Given the description of an element on the screen output the (x, y) to click on. 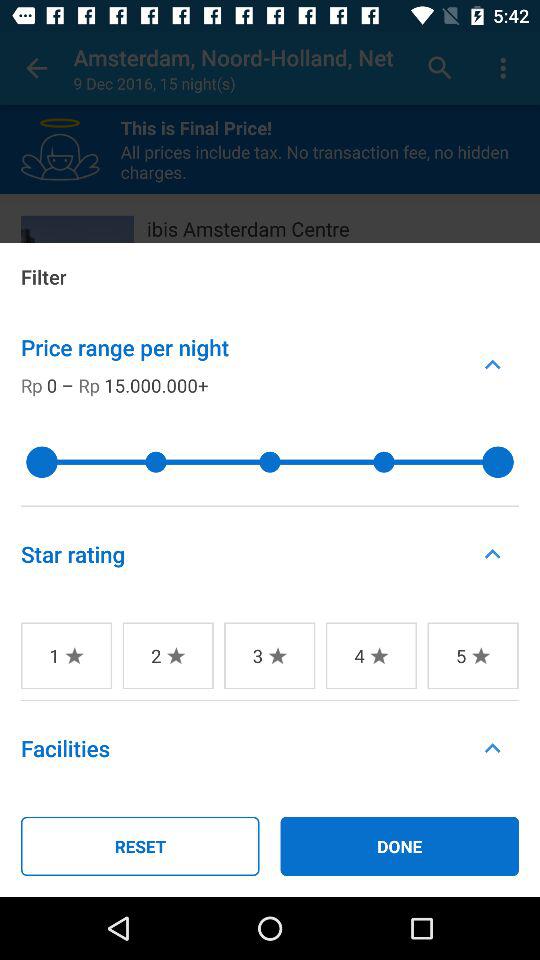
press done item (399, 846)
